Given the description of an element on the screen output the (x, y) to click on. 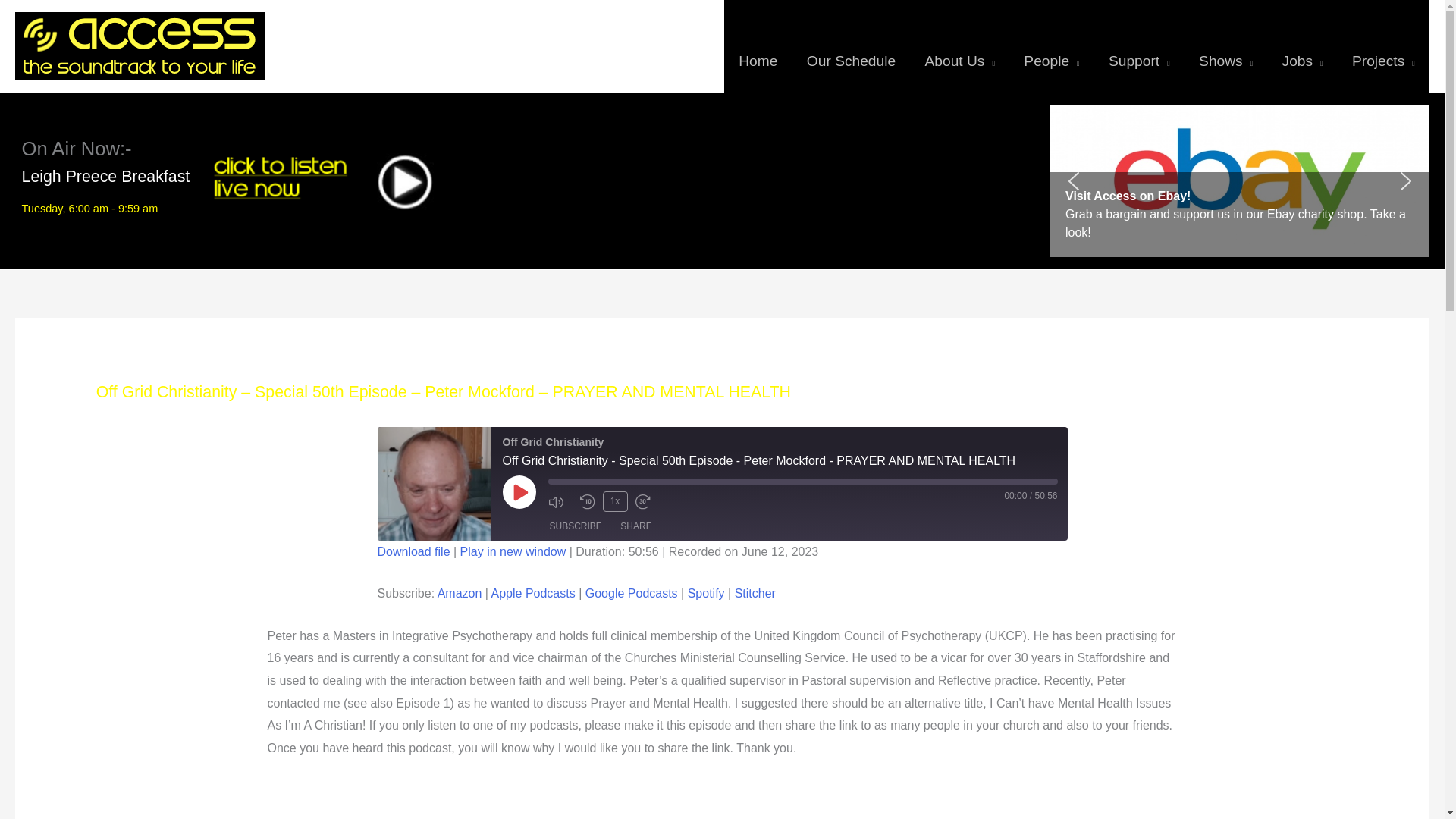
People (1051, 46)
Shows (1225, 46)
Rewind 10 seconds (586, 501)
Playback Speed (614, 501)
Leigh Preece Breakfast (105, 176)
Projects (1383, 46)
Our Schedule (851, 46)
Fast Forward 30 seconds (646, 501)
Share (635, 526)
About Us (959, 46)
Seek (802, 481)
Support (1139, 46)
Off Grid Christianity (434, 483)
Play Episode (518, 491)
Play (518, 491)
